Given the description of an element on the screen output the (x, y) to click on. 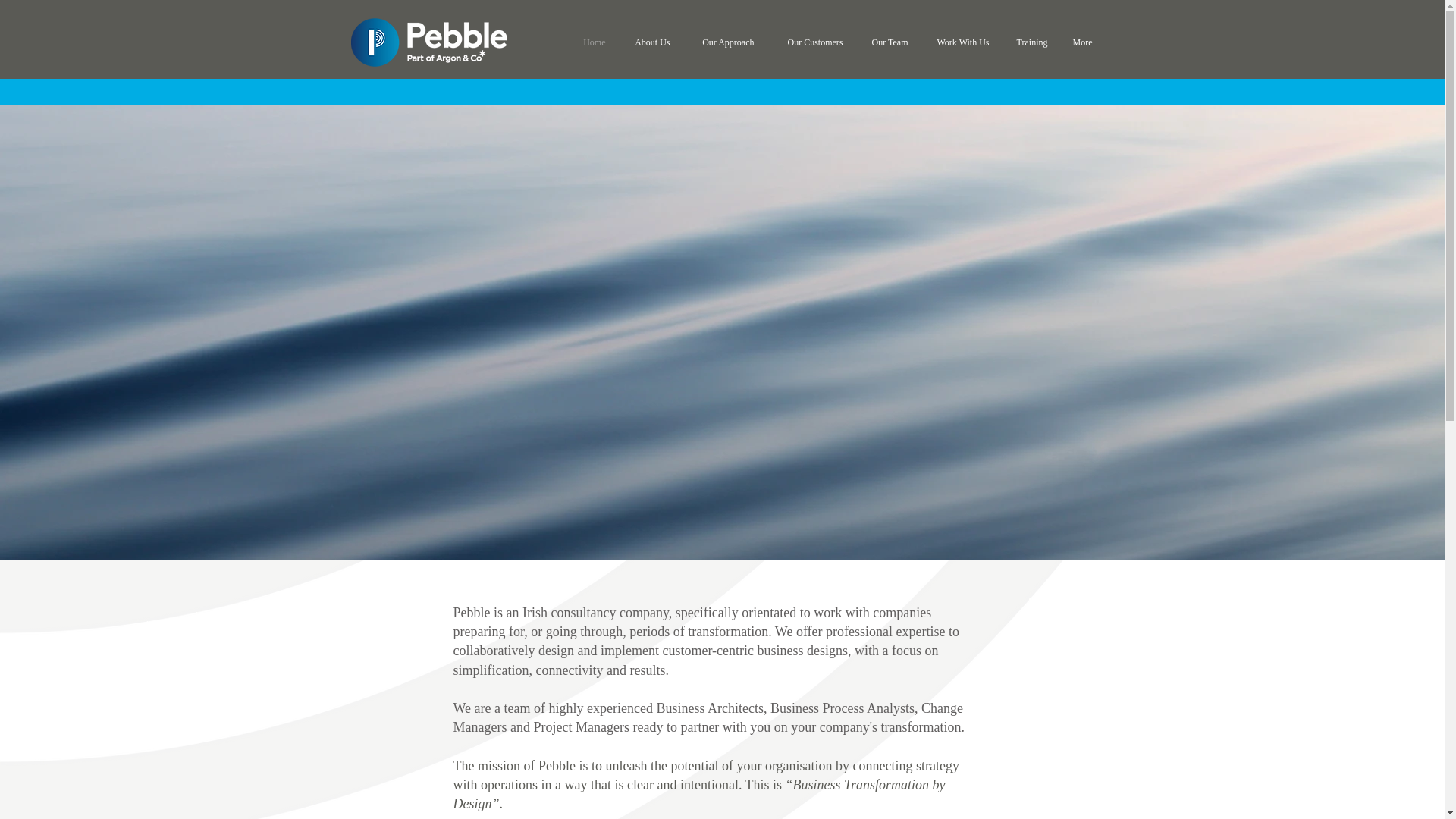
About Us (649, 42)
Our Approach (723, 42)
Work With Us (959, 42)
Training (1030, 42)
Our Team (885, 42)
Our Customers (809, 42)
Home (591, 42)
